Given the description of an element on the screen output the (x, y) to click on. 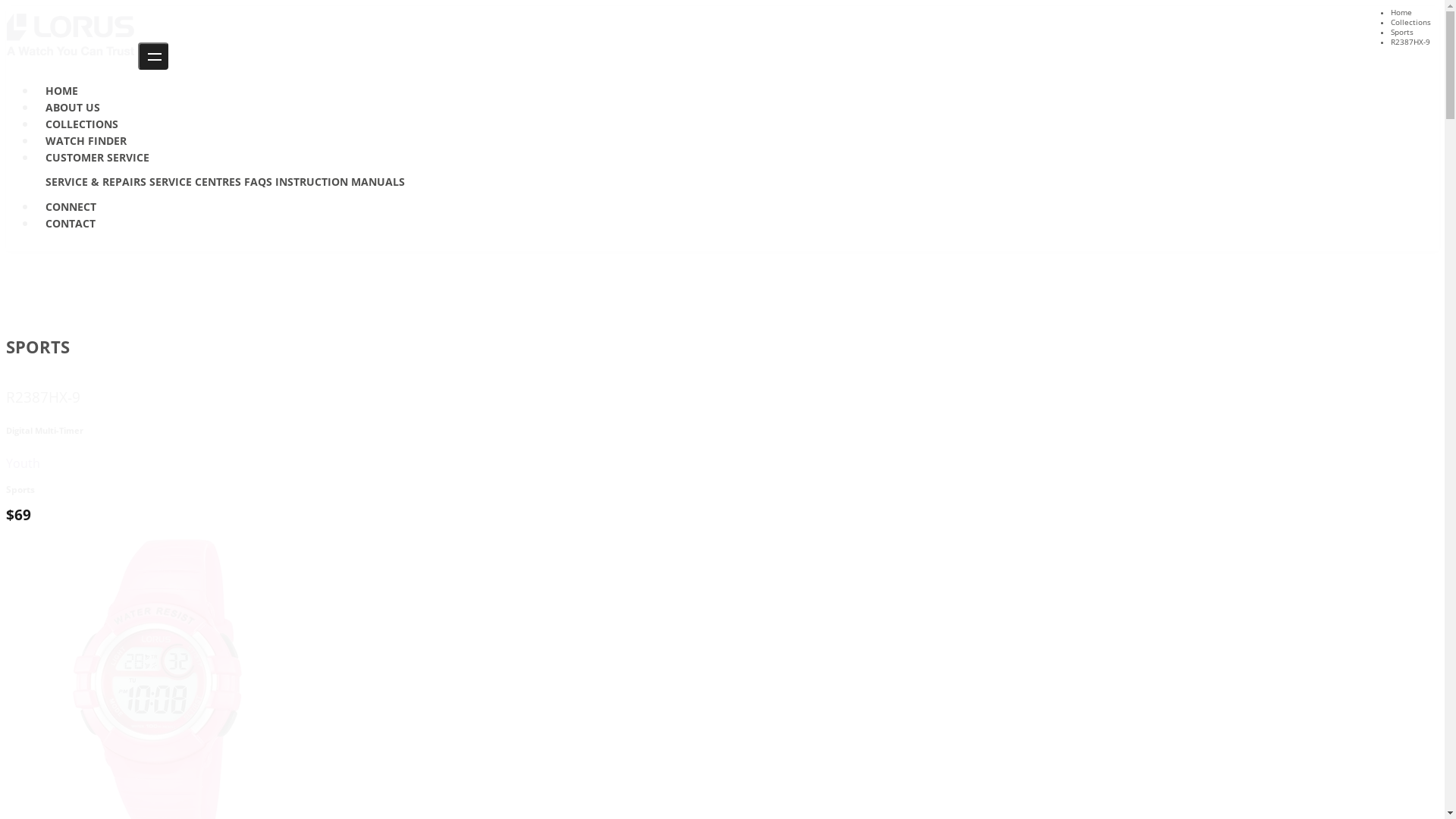
FAQS Element type: text (258, 181)
CUSTOMER SERVICE Element type: text (97, 157)
ABOUT US Element type: text (72, 107)
COLLECTIONS Element type: text (81, 123)
SERVICE CENTRES Element type: text (195, 181)
Collections Element type: text (1410, 22)
Home Element type: text (1401, 12)
CONTACT Element type: text (70, 223)
WATCH FINDER Element type: text (85, 140)
Sports Element type: text (1401, 32)
CONNECT Element type: text (70, 206)
INSTRUCTION MANUALS Element type: text (339, 181)
SERVICE & REPAIRS Element type: text (95, 181)
HOME Element type: text (61, 90)
